Given the description of an element on the screen output the (x, y) to click on. 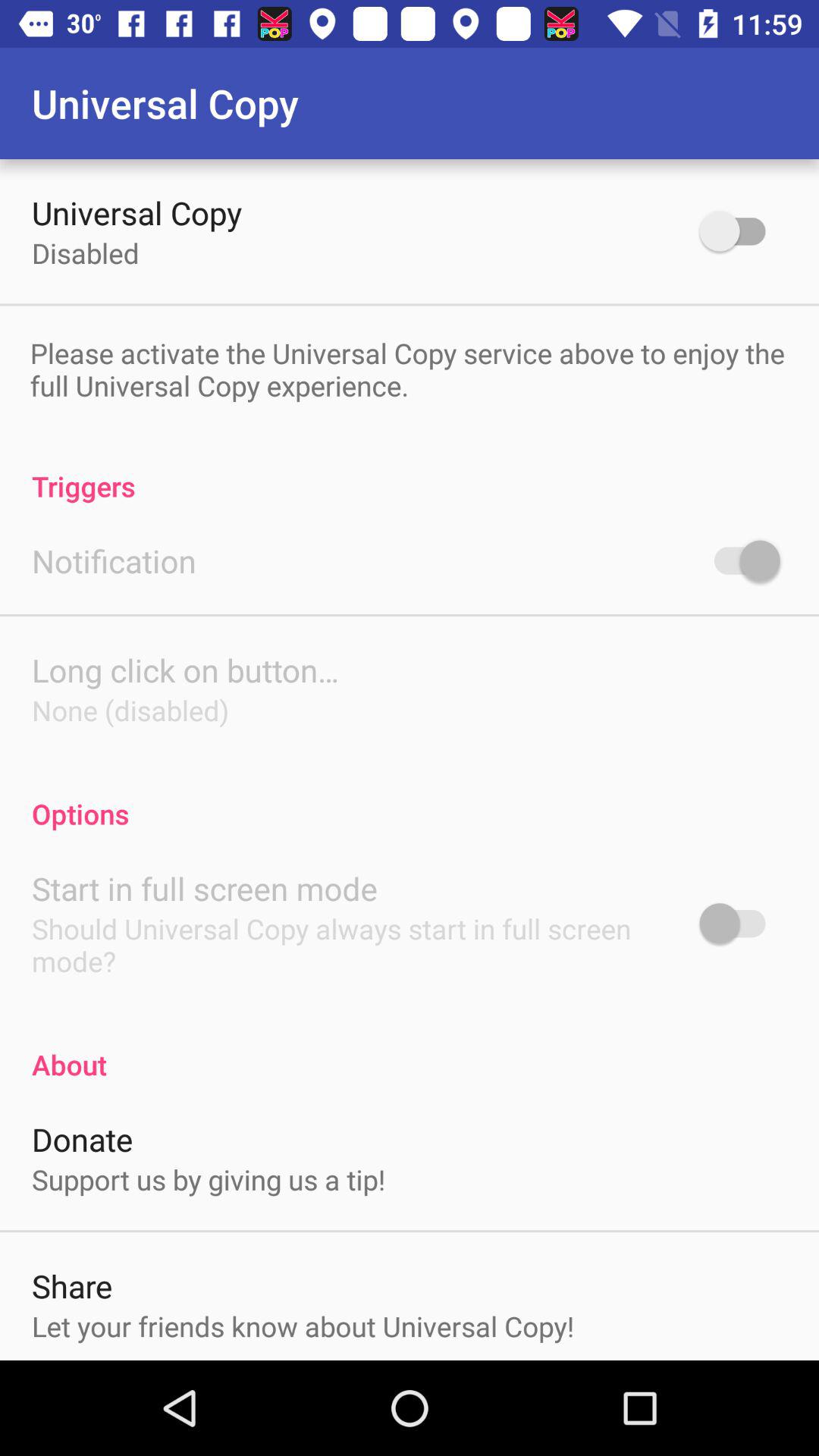
select the icon below none (disabled) (409, 797)
